Given the description of an element on the screen output the (x, y) to click on. 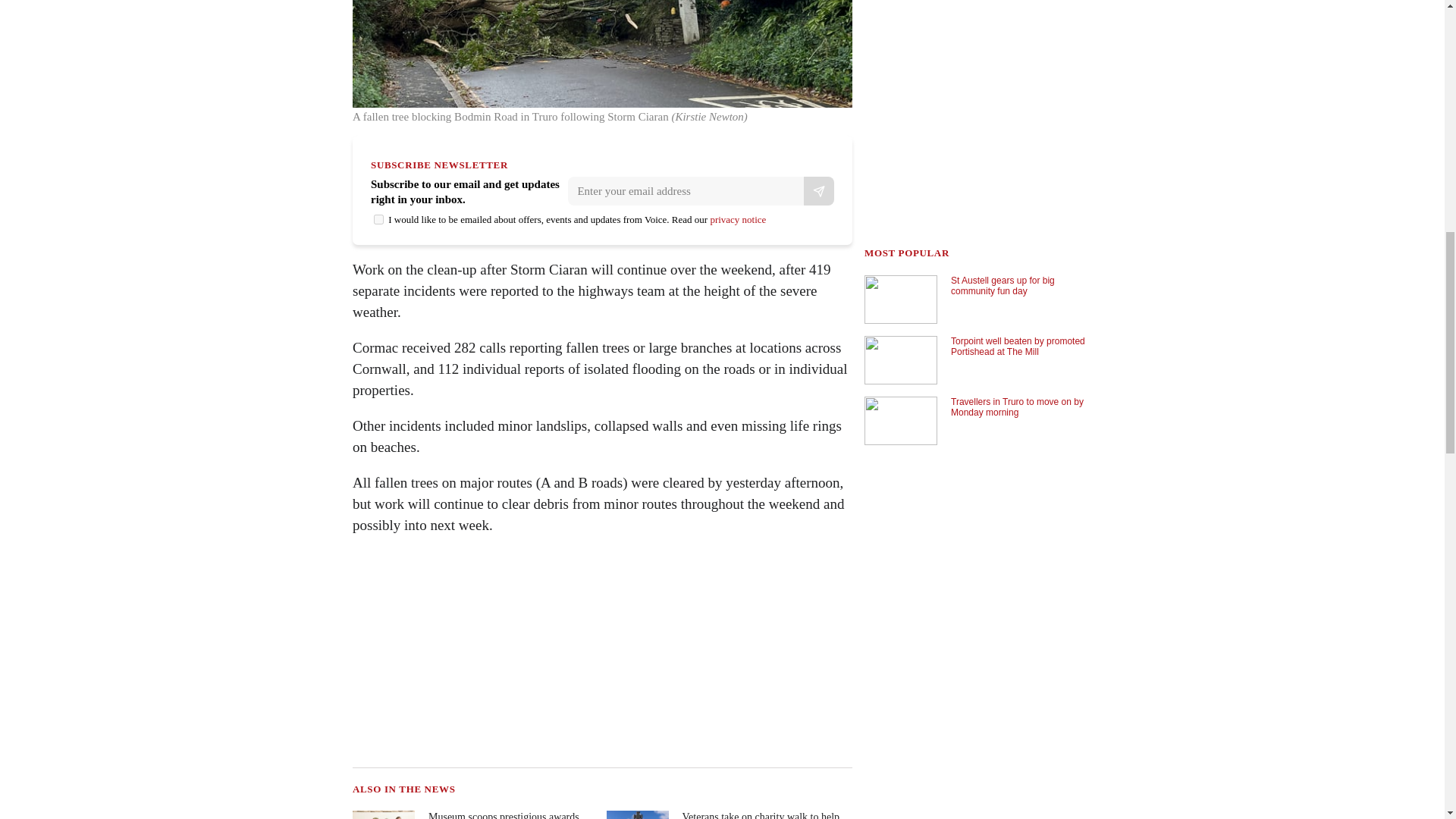
St Austell gears up for big community fun day (975, 299)
Museum scoops prestigious awards (473, 814)
privacy notice (737, 219)
Veterans take on charity walk to help beat combat stress (727, 814)
